Given the description of an element on the screen output the (x, y) to click on. 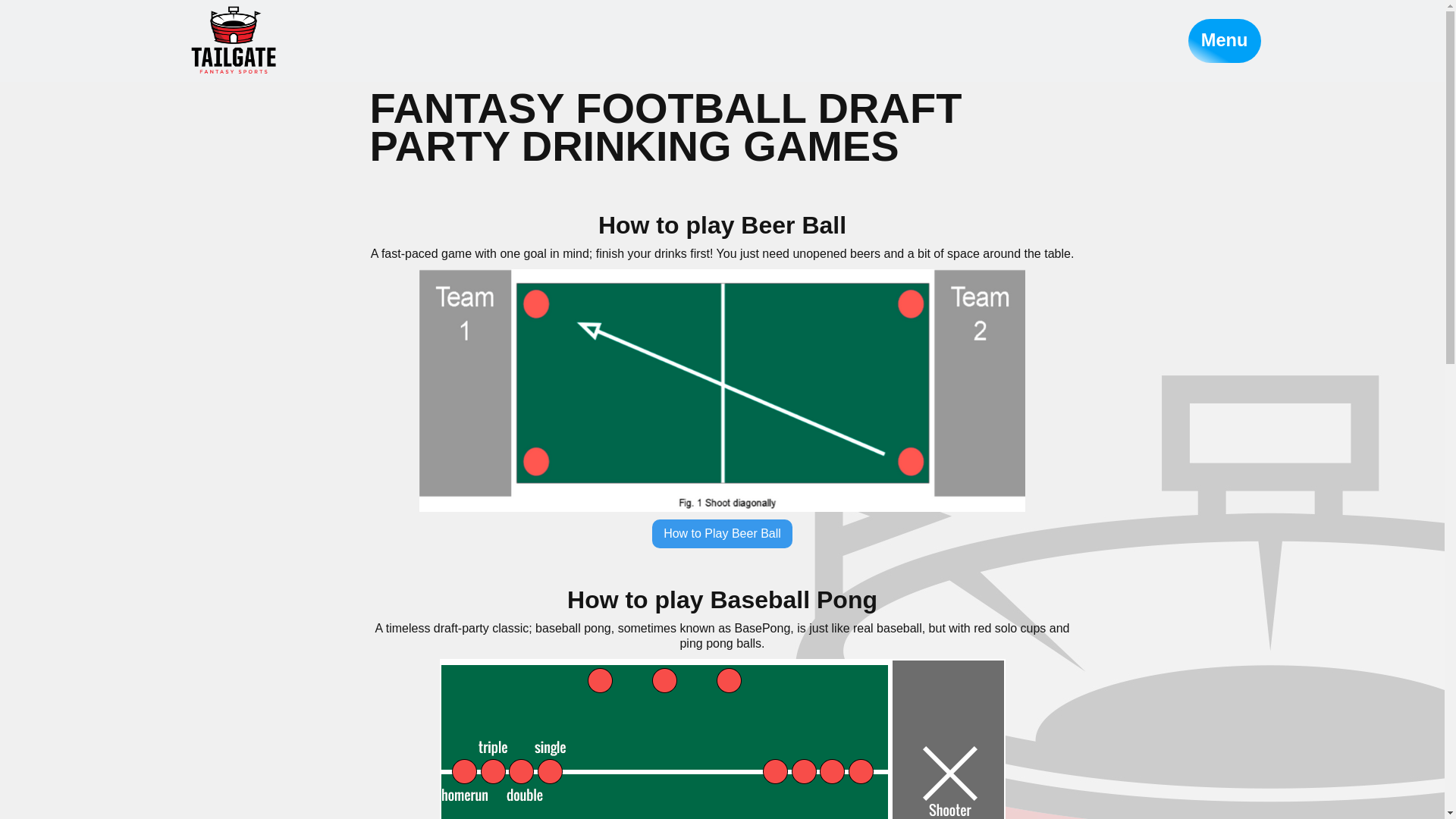
How to Play Beer Ball (722, 533)
